Given the description of an element on the screen output the (x, y) to click on. 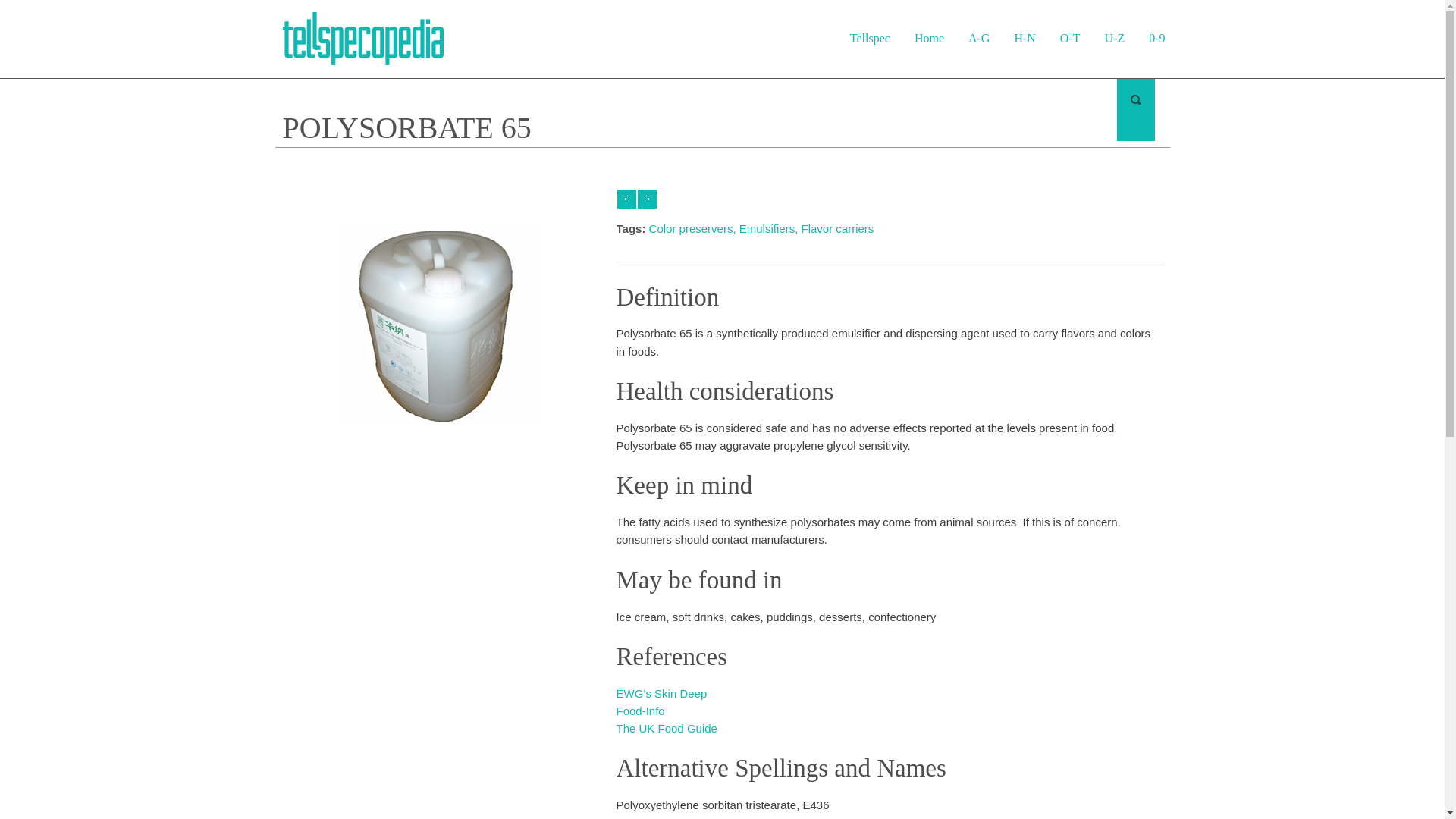
U-Z (1115, 38)
Search... (1007, 109)
Polysorbate 65 (440, 450)
H-N (1023, 38)
Tellspec (870, 38)
A-G (978, 38)
O-T (1070, 38)
0-9 (1156, 38)
Home (929, 38)
